Given the description of an element on the screen output the (x, y) to click on. 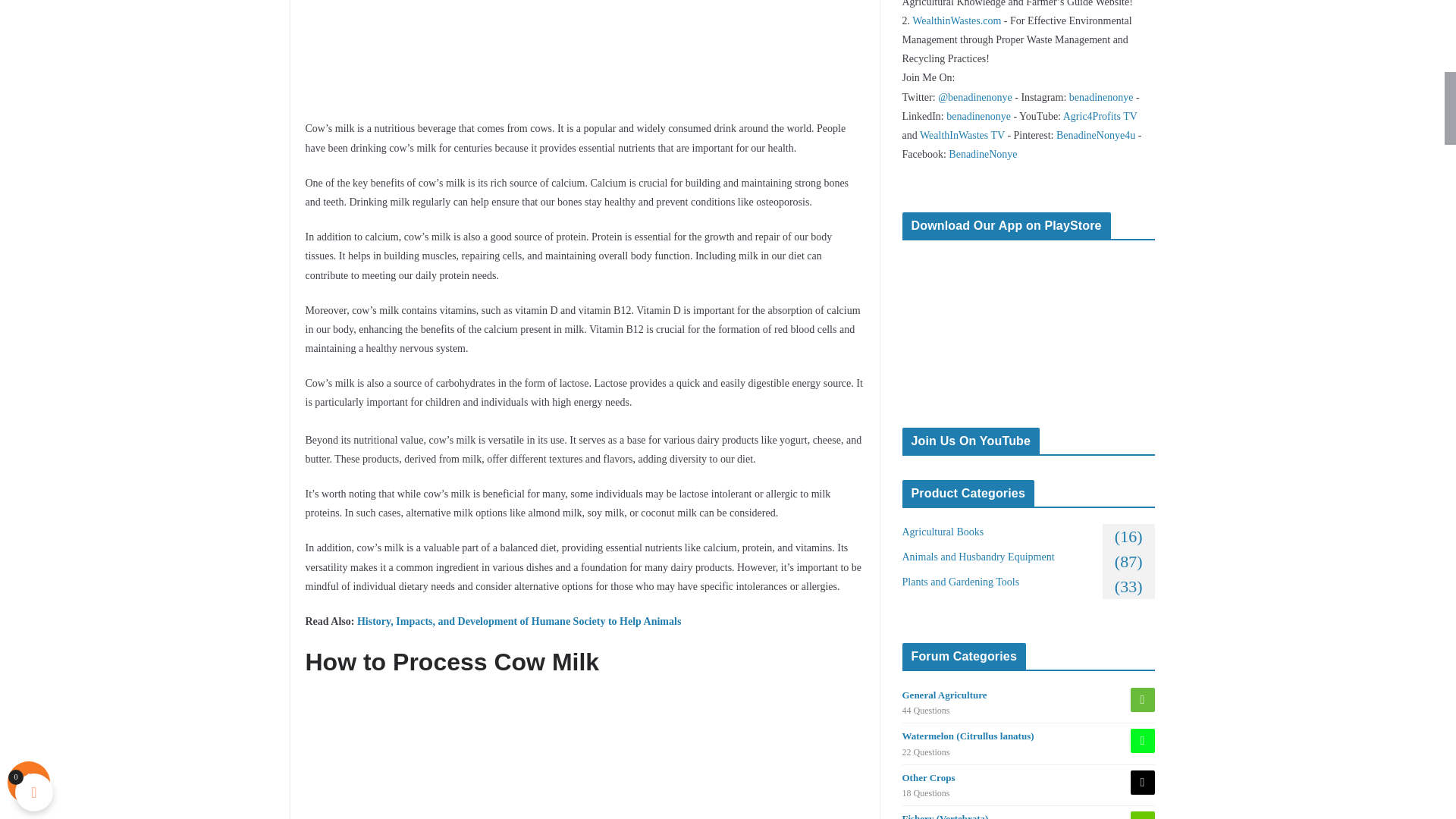
Cow's Milk: Economic Benefits and Uses (584, 756)
Advertisement (584, 58)
